Given the description of an element on the screen output the (x, y) to click on. 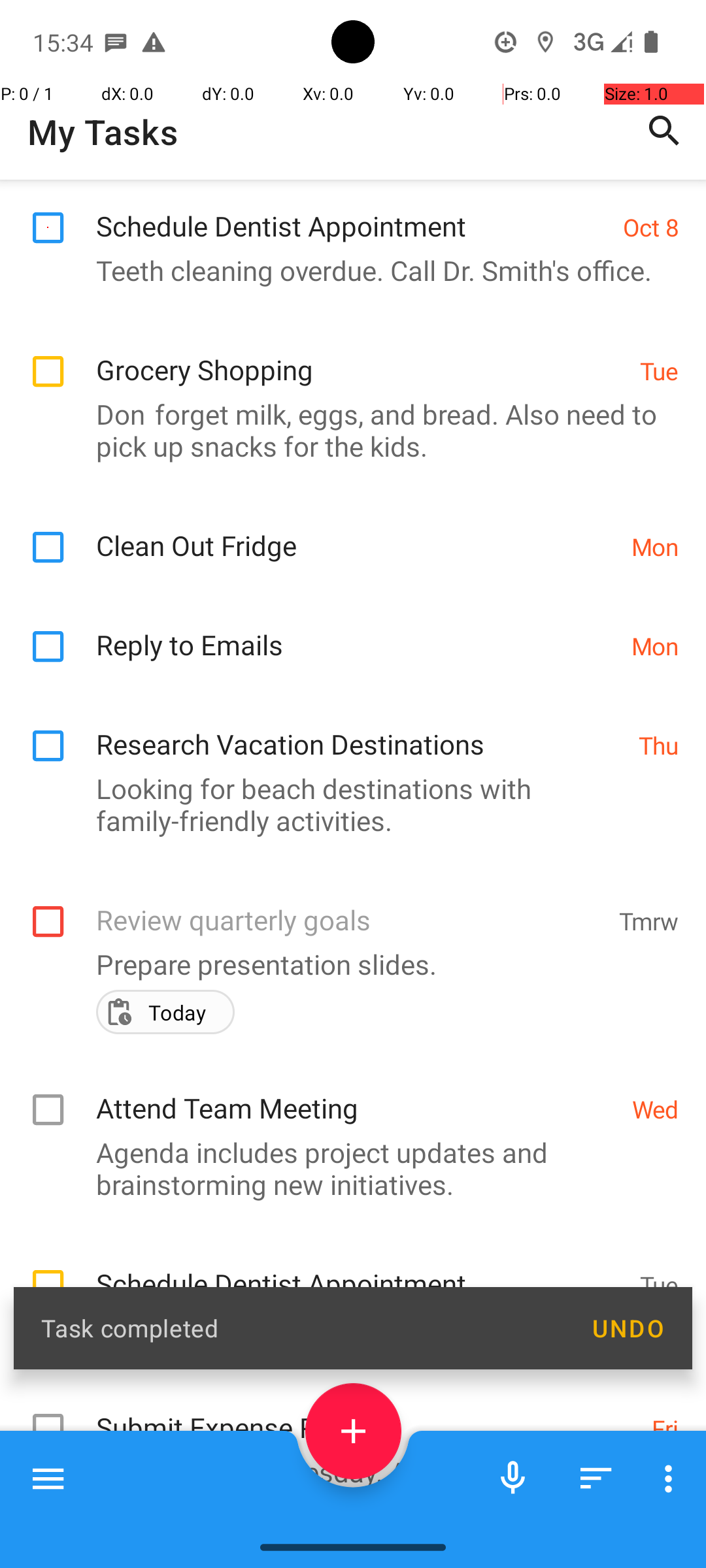
Task completed Element type: android.widget.TextView (302, 1327)
UNDO Element type: android.widget.Button (627, 1328)
Schedule Dentist Appointment Element type: android.widget.TextView (352, 380)
Teeth cleaning overdue. Call Dr. Smith's office. Element type: android.widget.TextView (346, 438)
Oct 8 Element type: android.widget.TextView (650, 395)
Don	 forget milk, eggs, and bread. Also need to pick up snacks for the kids. Element type: android.widget.TextView (346, 598)
Research Vacation Destinations Element type: android.widget.TextView (360, 898)
Looking for beach destinations with family-friendly activities. Element type: android.widget.TextView (346, 972)
Review quarterly goals Element type: android.widget.TextView (350, 1037)
Prepare presentation slides. Element type: android.widget.TextView (346, 1095)
Agenda includes project updates and brainstorming new initiatives. Element type: android.widget.TextView (346, 1299)
